Given the description of an element on the screen output the (x, y) to click on. 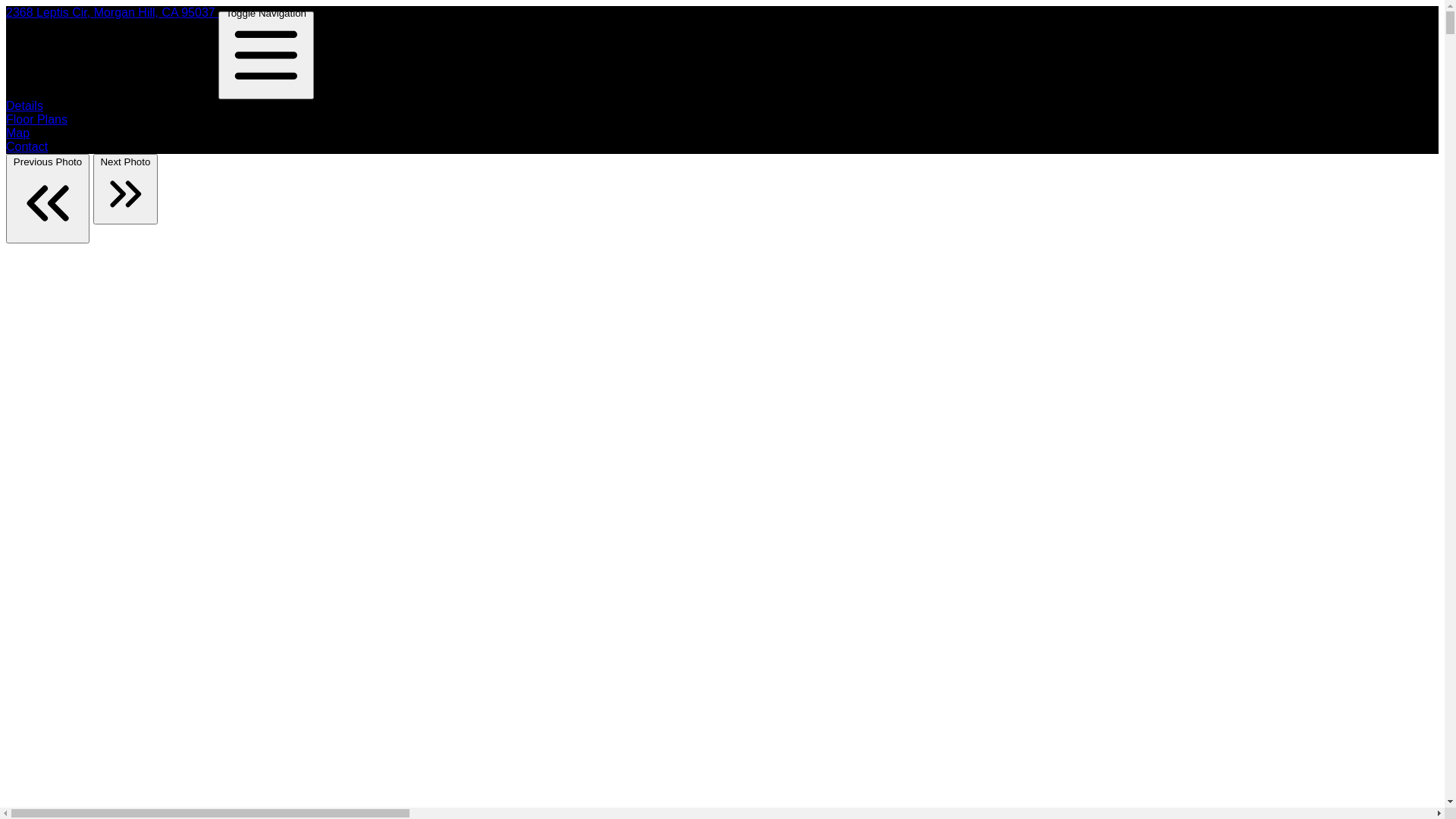
Map Element type: text (17, 132)
Details Element type: text (24, 105)
Contact Element type: text (26, 146)
Next Photo Element type: text (125, 189)
Previous Photo Element type: text (47, 198)
2368 Leptis Cir, Morgan Hill, CA 95037 Element type: text (112, 12)
Floor Plans Element type: text (36, 118)
Toggle Navigation Element type: text (265, 55)
